Given the description of an element on the screen output the (x, y) to click on. 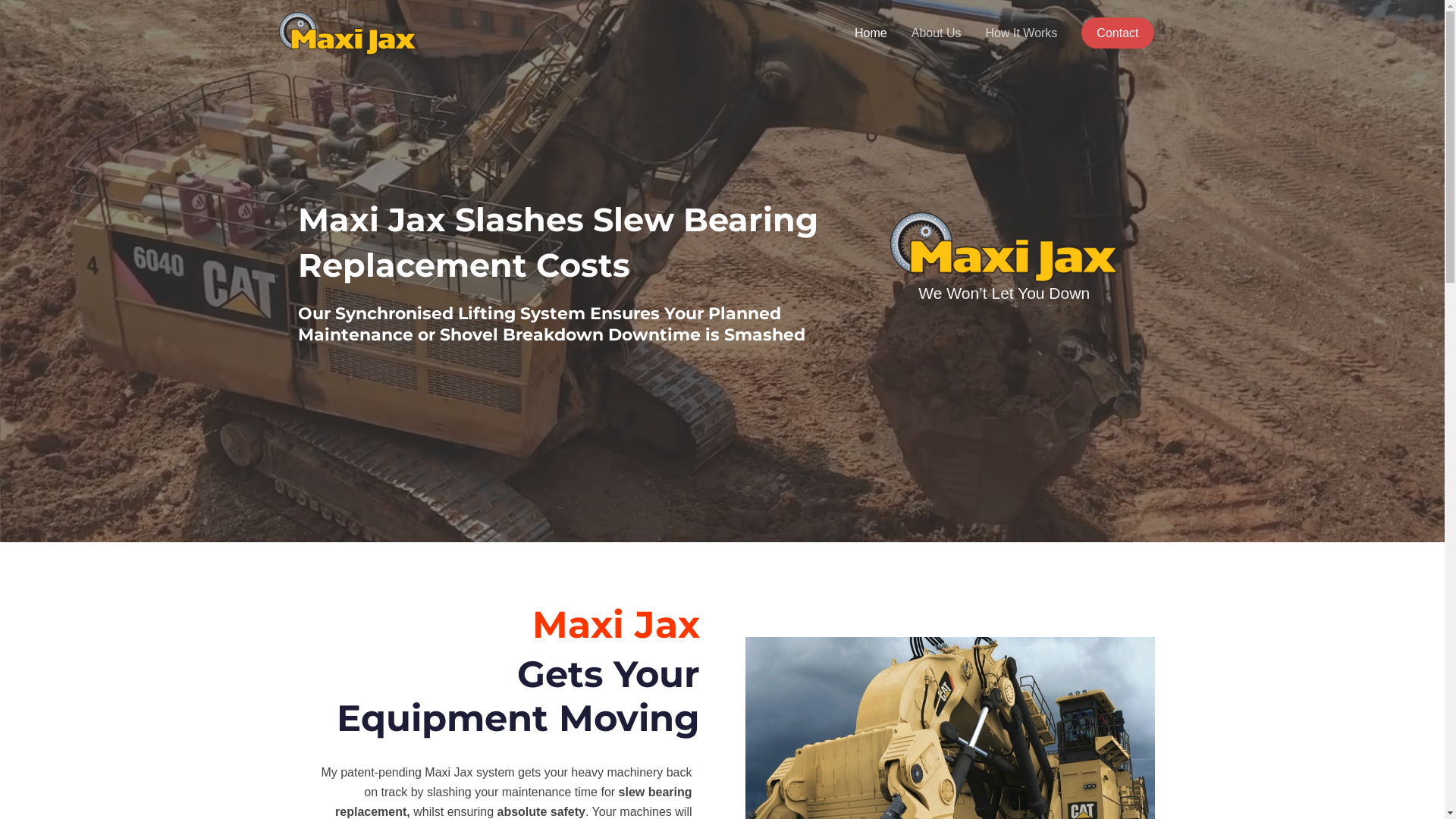
Contact Element type: text (1117, 32)
Home Element type: text (870, 33)
About Us Element type: text (936, 33)
How It Works Element type: text (1021, 33)
